Given the description of an element on the screen output the (x, y) to click on. 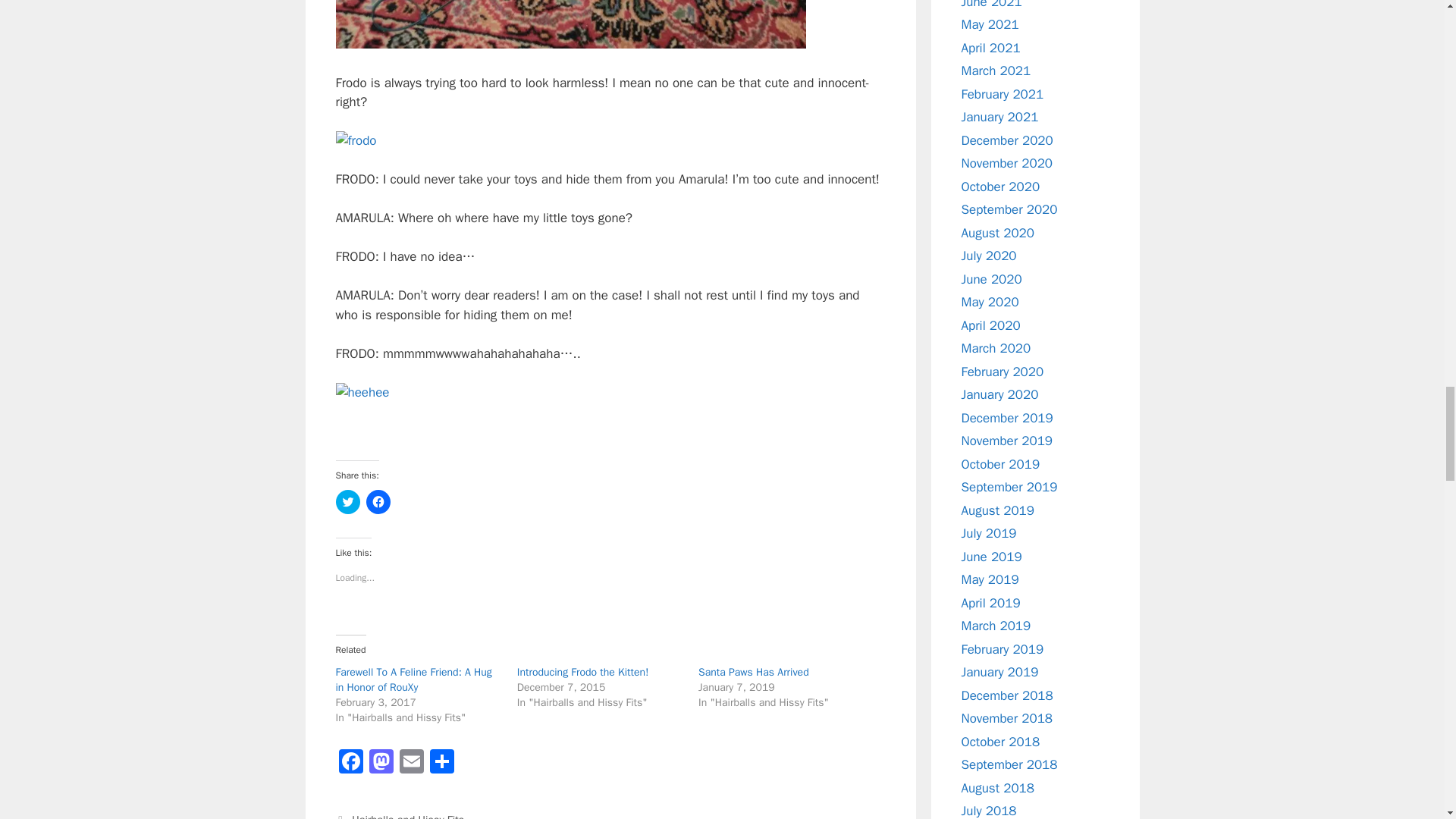
Farewell To A Feline Friend: A Hug in Honor of RouXy (413, 679)
Santa Paws Has Arrived (753, 671)
Email (411, 763)
Hairballs and Hissy Fits (408, 816)
Email (411, 763)
Santa Paws Has Arrived (753, 671)
Facebook (349, 763)
Click to share on Facebook (377, 501)
Mastodon (380, 763)
Mastodon (380, 763)
Farewell To A Feline Friend: A Hug in Honor of RouXy (413, 679)
Facebook (349, 763)
Introducing Frodo the Kitten! (582, 671)
Click to share on Twitter (346, 501)
Introducing Frodo the Kitten! (582, 671)
